Given the description of an element on the screen output the (x, y) to click on. 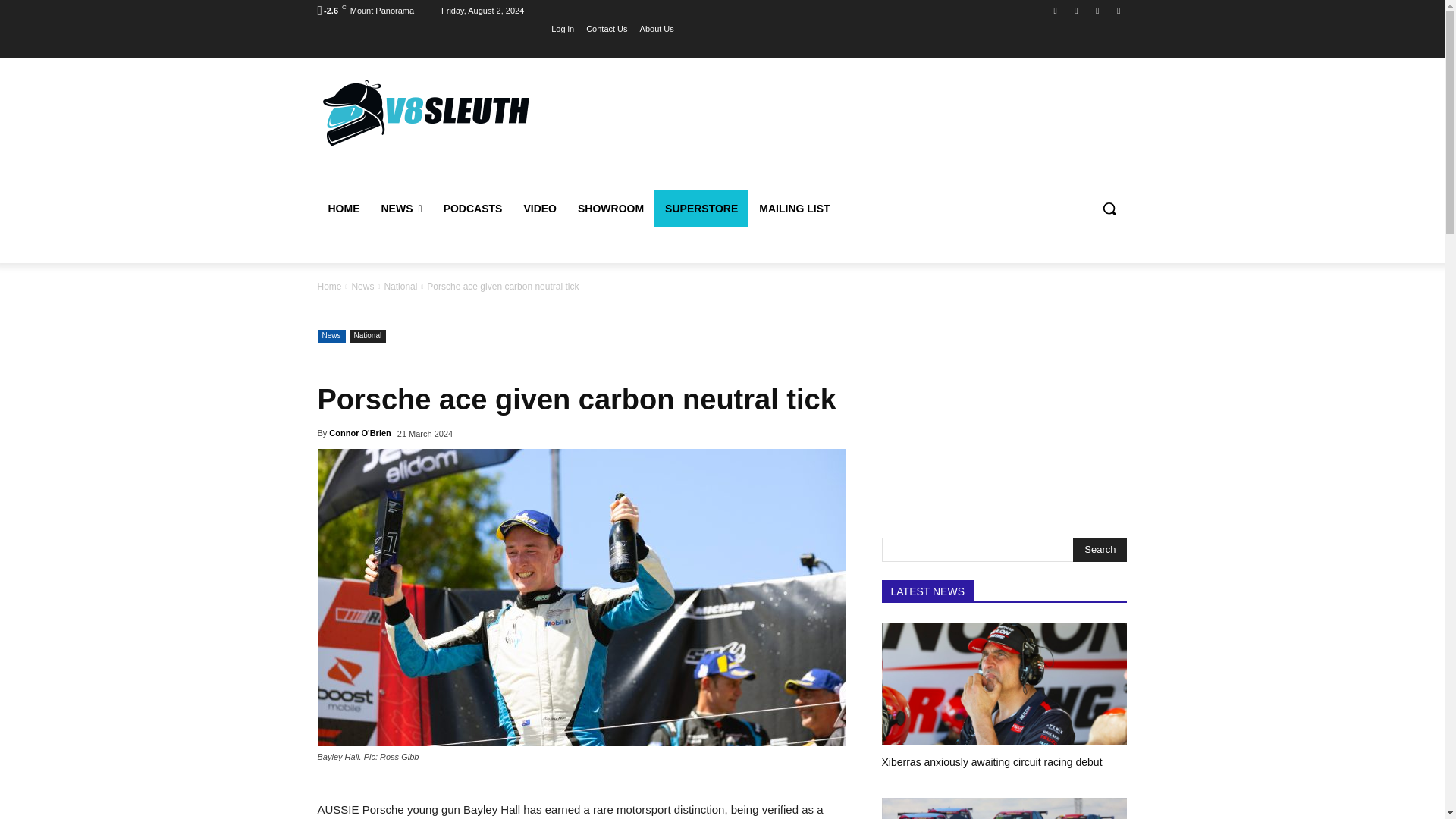
Contact Us (606, 28)
Log in (562, 28)
NEWS (400, 208)
About Us (657, 28)
HOME (343, 208)
Facebook (1055, 9)
Instagram (1075, 9)
Twitter (1097, 9)
3rd party ad content (846, 131)
Youtube (1117, 9)
